Given the description of an element on the screen output the (x, y) to click on. 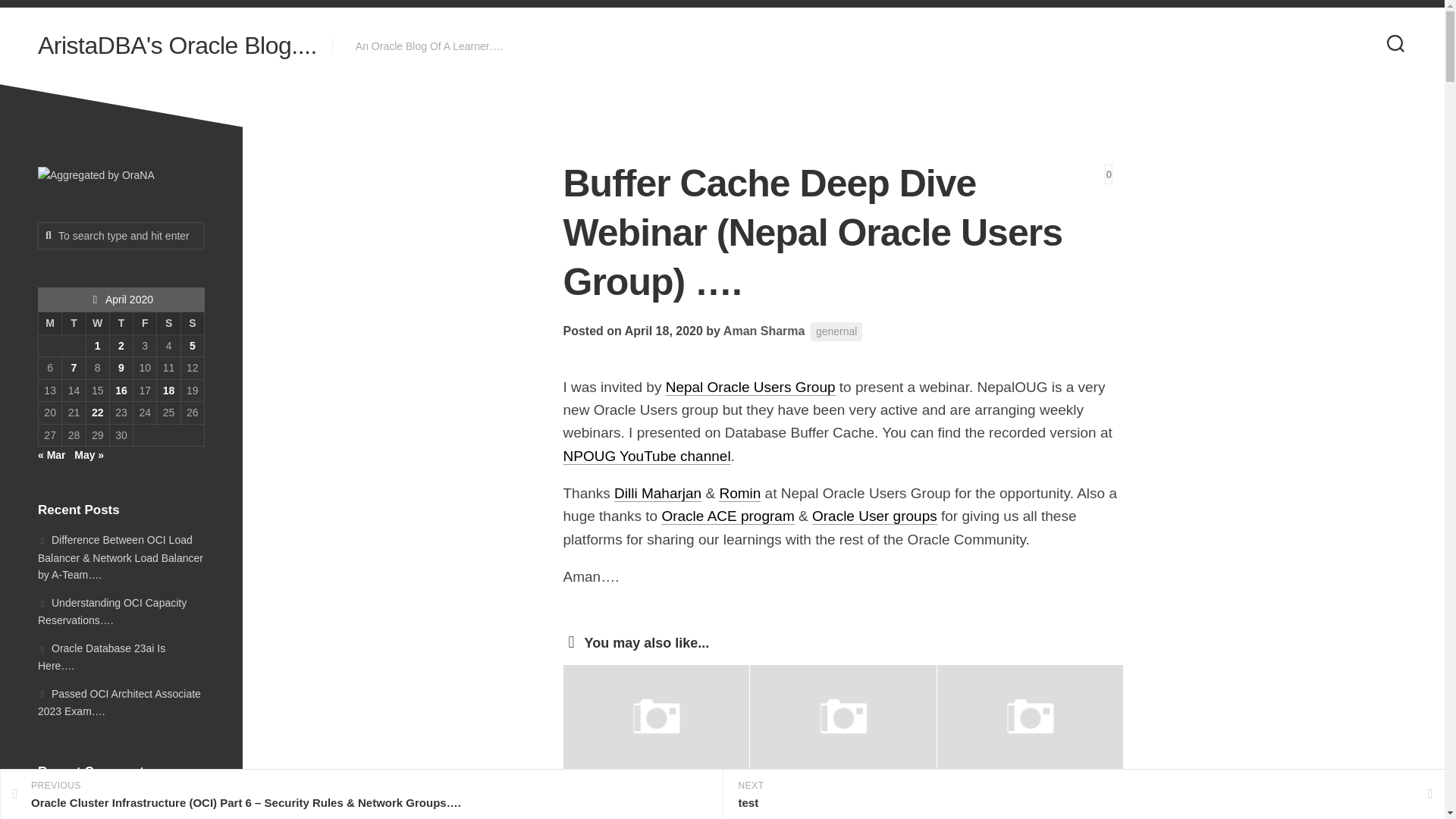
2 (120, 345)
Friday (145, 323)
Nepal Oracle Users Group (750, 386)
Aman Sharma (764, 330)
Oracle User groups (874, 515)
Saturday (168, 323)
0 (1108, 173)
Aggregated by OraNA (95, 175)
Sunday (191, 323)
1 (97, 345)
Monday (49, 323)
Tuesday (73, 323)
To search type and hit enter (121, 234)
9 (120, 367)
To search type and hit enter (121, 234)
